Given the description of an element on the screen output the (x, y) to click on. 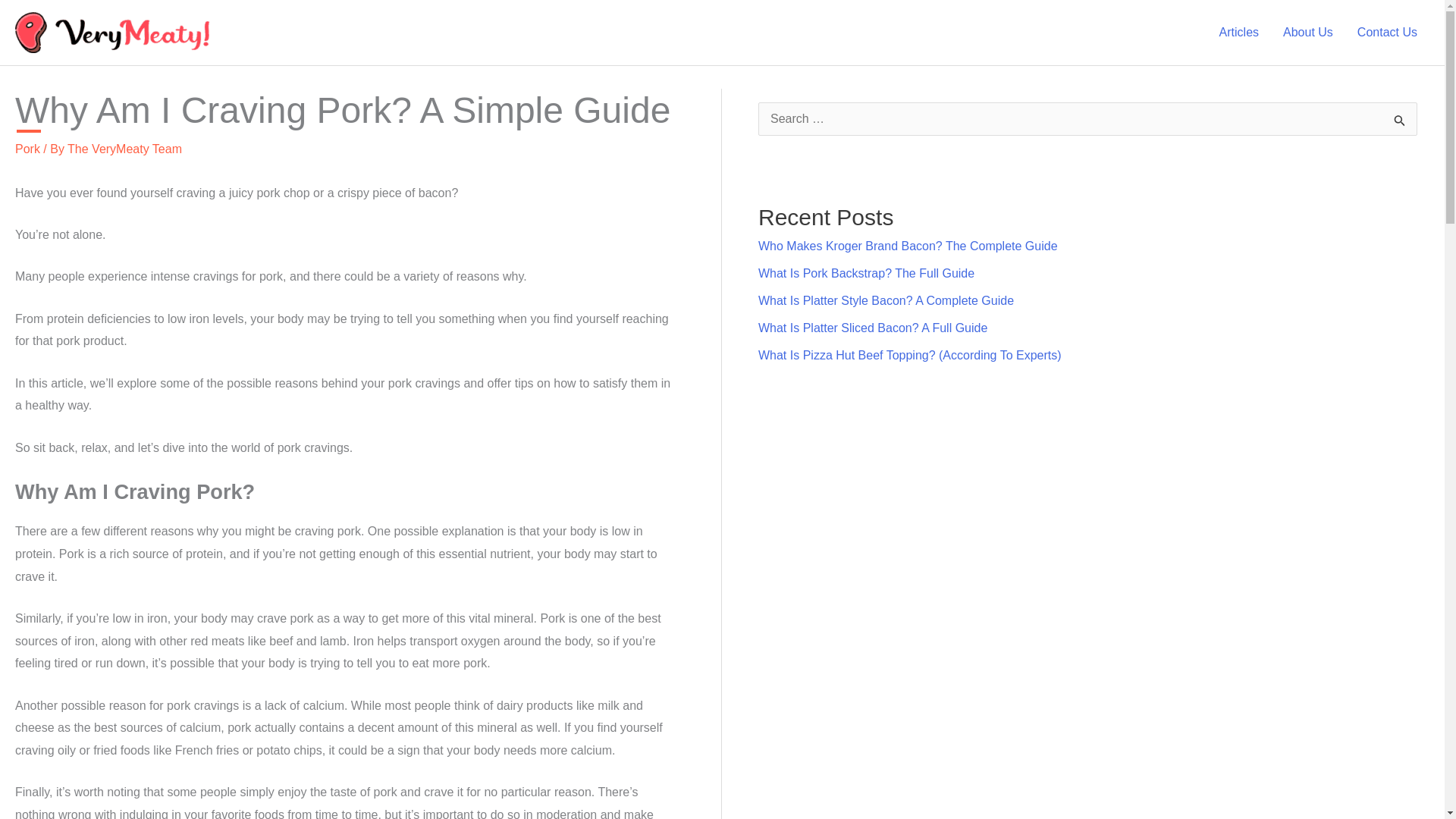
View all posts by The VeryMeaty Team (124, 148)
What Is Platter Style Bacon? A Complete Guide (885, 300)
What Is Pork Backstrap? The Full Guide (866, 273)
The VeryMeaty Team (124, 148)
Who Makes Kroger Brand Bacon? The Complete Guide (908, 245)
About Us (1308, 31)
Articles (1239, 31)
What Is Platter Sliced Bacon? A Full Guide (872, 327)
Pork (27, 148)
Contact Us (1387, 31)
